Given the description of an element on the screen output the (x, y) to click on. 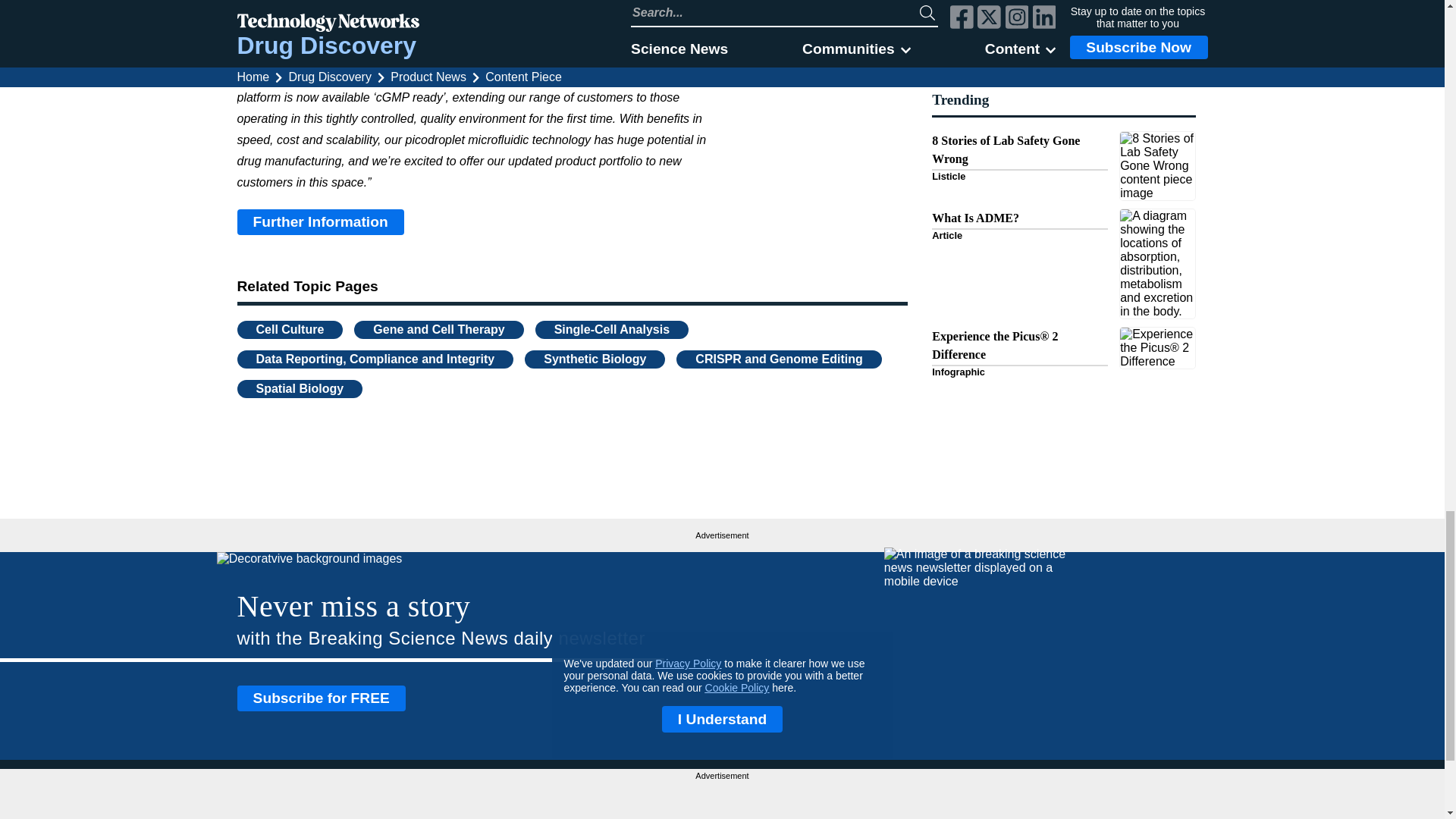
Link to Technology Networks' instagram page (1171, 808)
Link to Technology Networks' facebook page (1115, 808)
Link to Technology Networks' linkedin page (1196, 808)
Link to Technology Networks' twitter page (1143, 808)
